Given the description of an element on the screen output the (x, y) to click on. 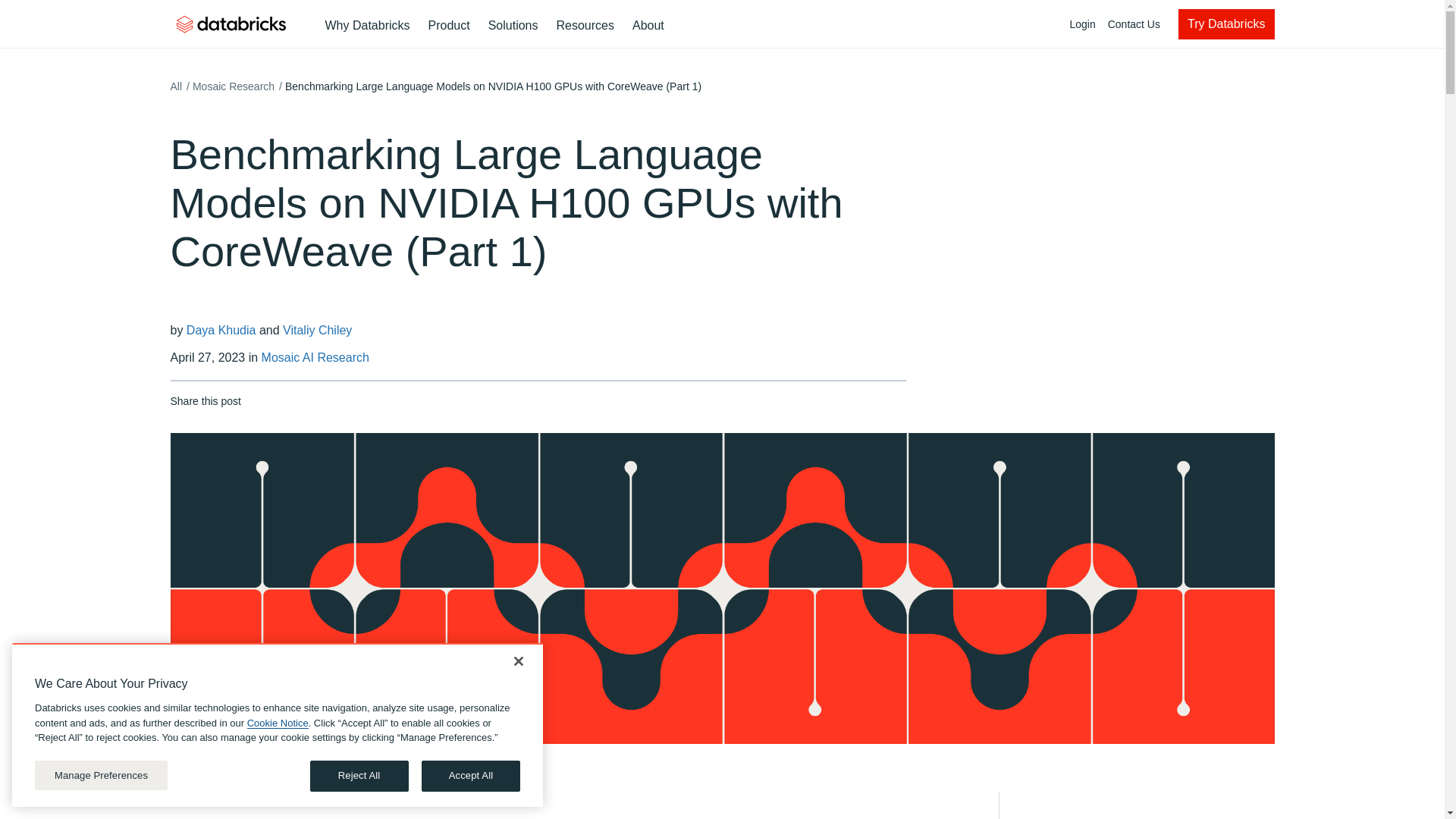
Solutions (680, 23)
Product (513, 25)
Why Databricks (449, 25)
